Given the description of an element on the screen output the (x, y) to click on. 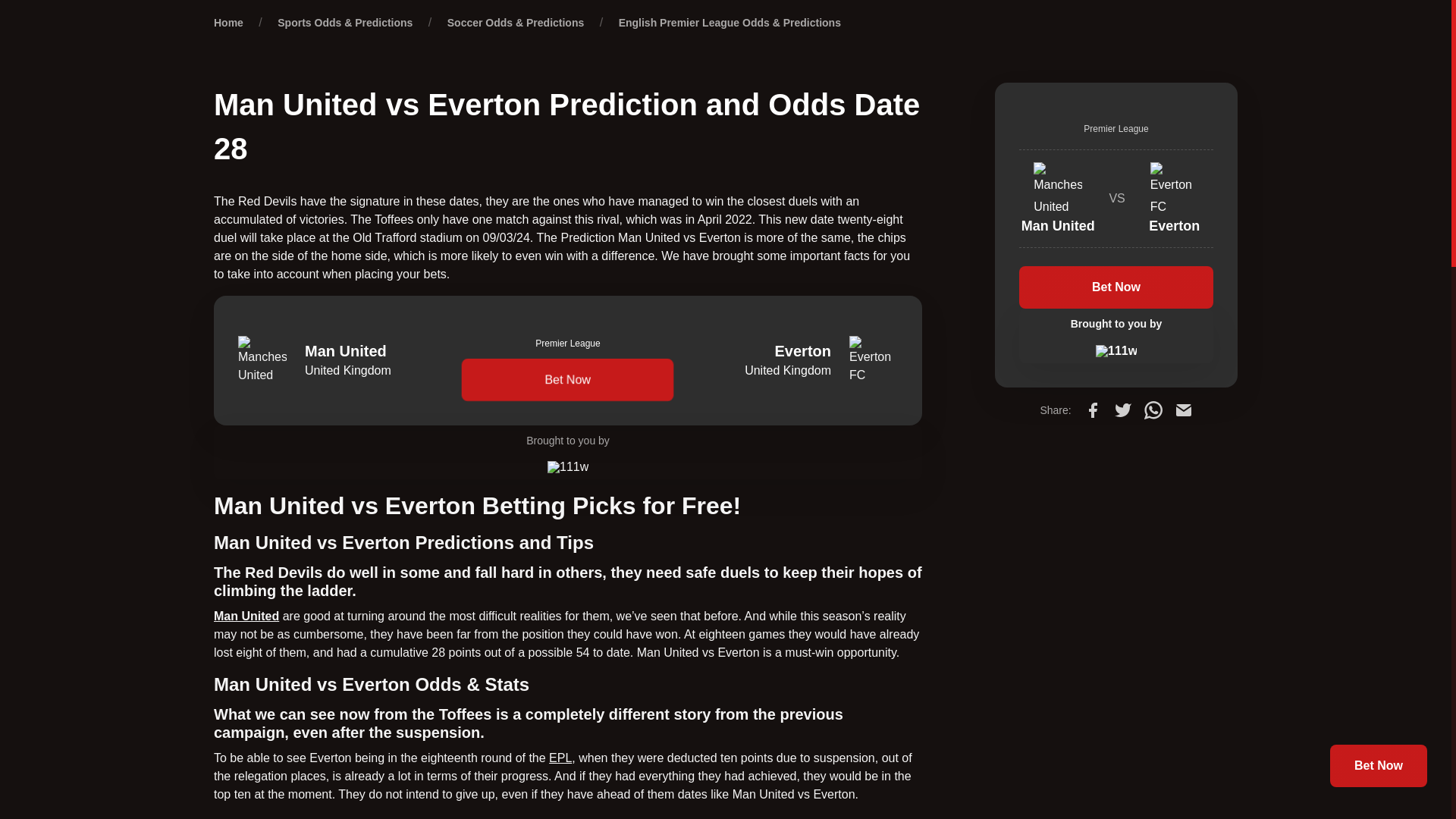
Man United (246, 615)
Twitter (1122, 409)
Brought to you by (567, 452)
WhatsApp (1152, 409)
EPL Odds (560, 757)
Bet Now (566, 379)
Email (1183, 409)
Facebook (1092, 409)
Manchester United Twitter (246, 615)
Home (228, 22)
